Given the description of an element on the screen output the (x, y) to click on. 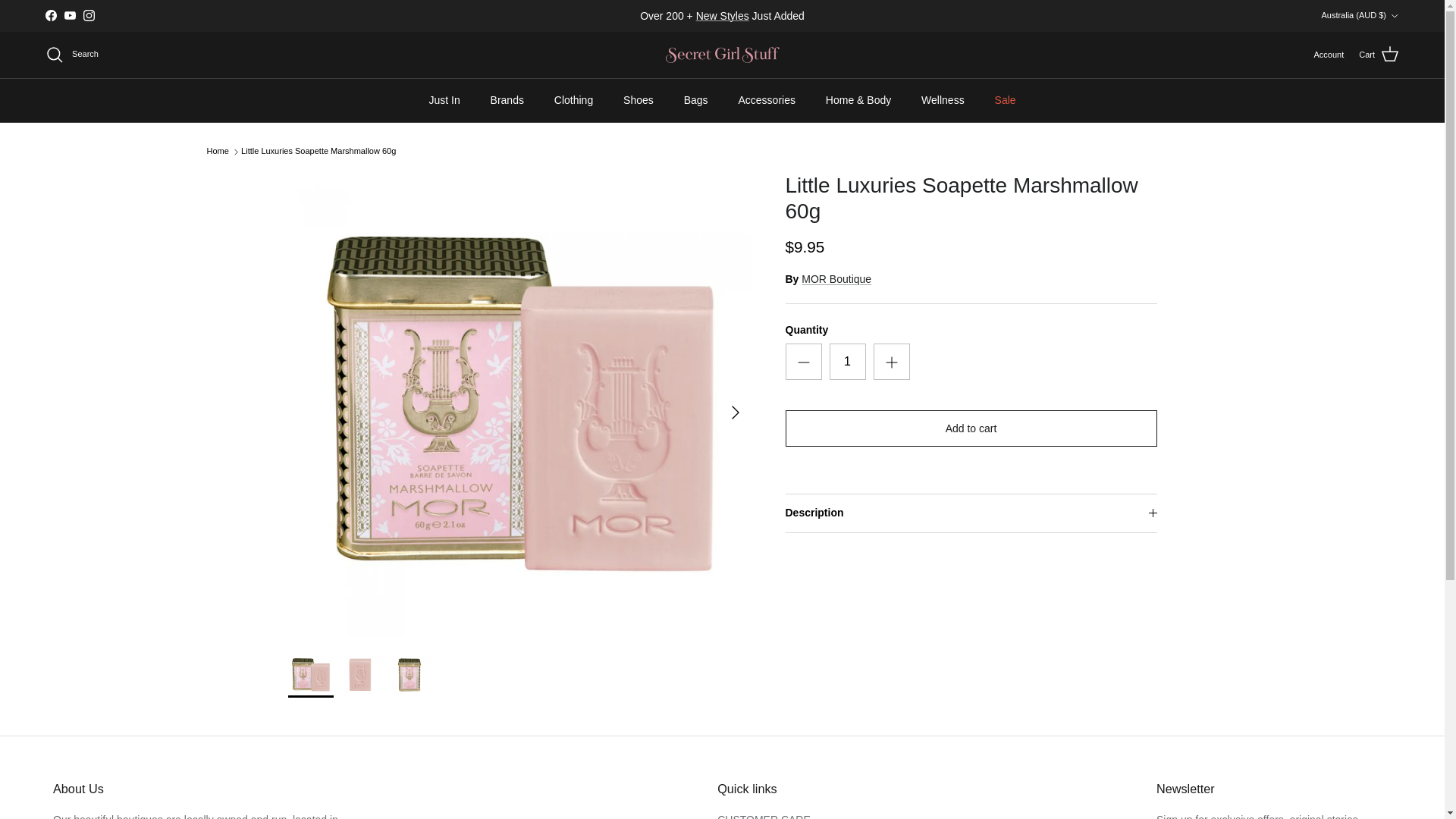
Brands (507, 100)
Account (1328, 55)
1 (847, 361)
Just In (443, 100)
New Styles (722, 15)
Secret Girl Stuff on Instagram (88, 15)
Secret Girl Stuff on YouTube (69, 15)
Secret Girl Stuff on Facebook (50, 15)
Facebook (50, 15)
Cart (1378, 54)
